Given the description of an element on the screen output the (x, y) to click on. 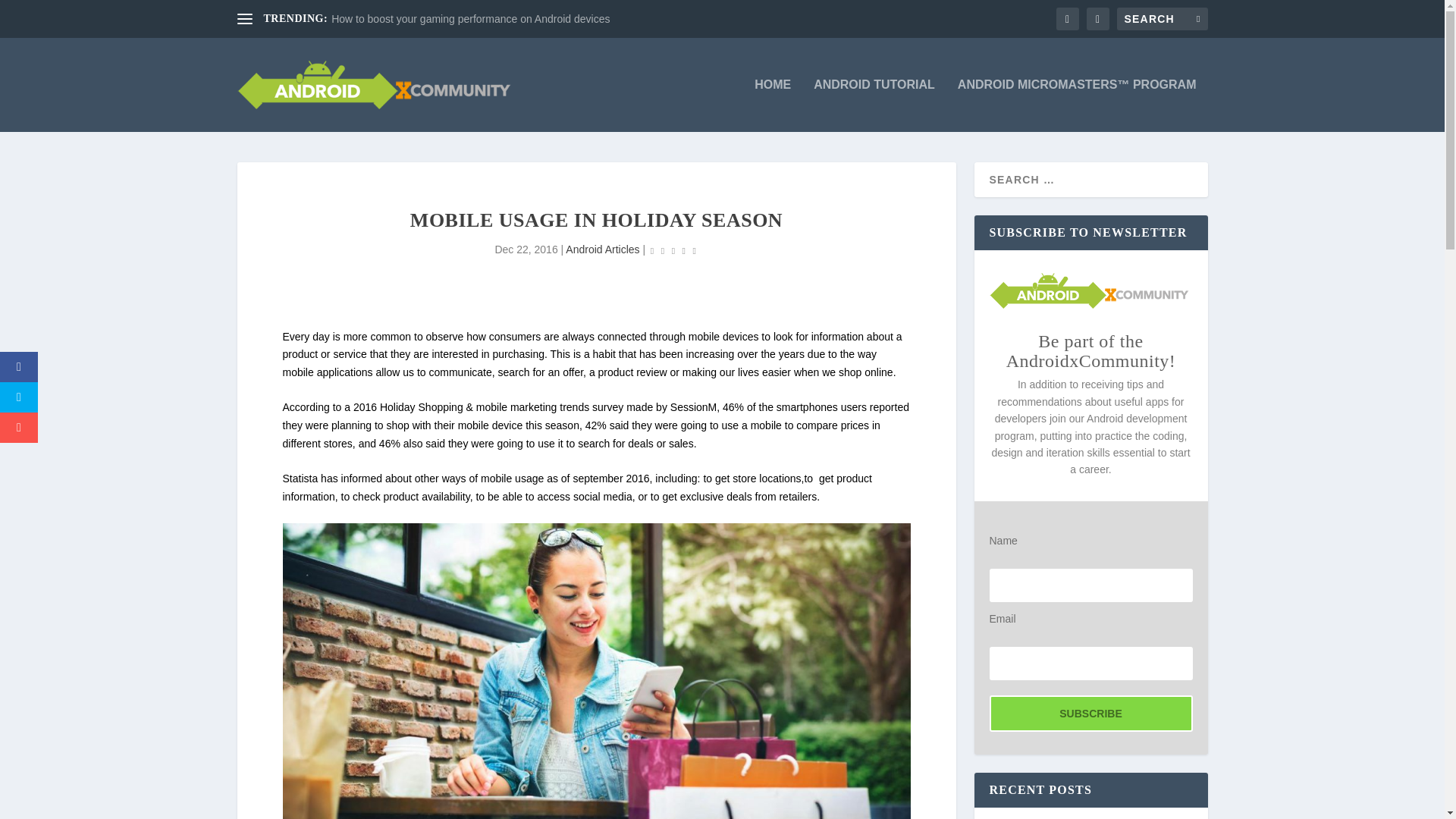
Android Articles (602, 249)
Subscribe (1090, 713)
Rating: 5.00 (672, 250)
Statista (299, 478)
Search for: (1161, 18)
ANDROID TUTORIAL (873, 104)
How to boost your gaming performance on Android devices (470, 19)
